Given the description of an element on the screen output the (x, y) to click on. 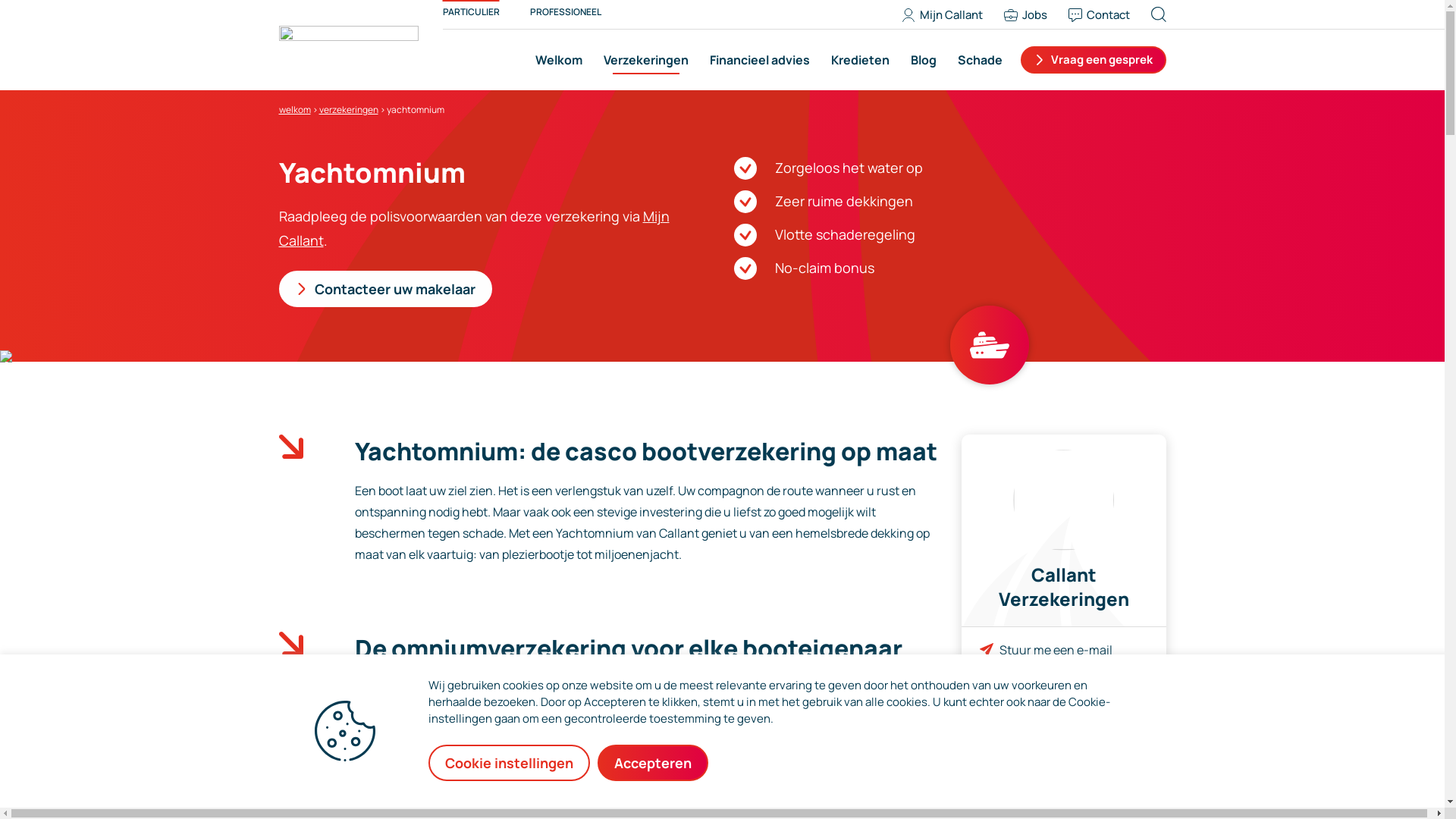
verzekeringen Element type: text (347, 109)
Schade Element type: text (975, 59)
welkom Element type: text (294, 109)
Verzekeringen Element type: text (645, 59)
Vraag een gesprek Element type: text (1093, 59)
Mijn Callant Element type: text (474, 228)
Financieel advies Element type: text (759, 59)
Kredieten Element type: text (860, 59)
Welkom Element type: text (558, 59)
Mijn Callant Element type: text (947, 14)
Zoeken Element type: text (1173, 13)
Blog Element type: text (922, 59)
Contacteer uw makelaar Element type: text (385, 288)
Jobs Element type: text (1031, 14)
+32(0) 50 34 33 23 Element type: text (1050, 695)
Stuur me een e-mail Element type: text (1055, 649)
Accepteren Element type: text (652, 762)
Home Element type: hover (348, 43)
Cookie instellingen Element type: text (508, 762)
Contact Element type: text (1104, 14)
